Given the description of an element on the screen output the (x, y) to click on. 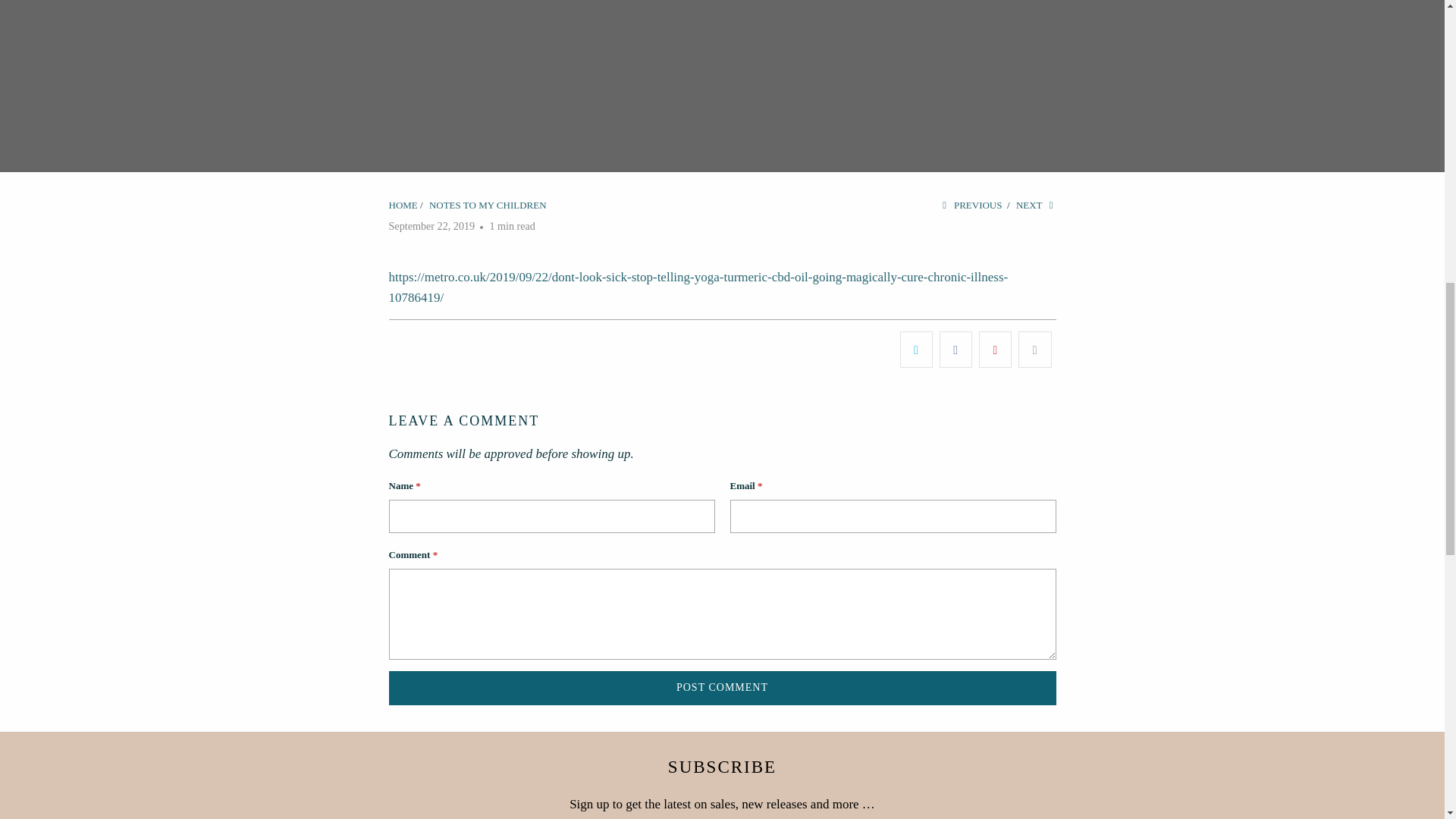
Share this on Twitter (916, 348)
Share this on Pinterest (994, 348)
Notes to My Children (488, 204)
Sophia Alexander Gold Fingerprint Jewellery (402, 204)
Email this to a friend (1034, 348)
Share this on Facebook (955, 348)
Post comment (721, 687)
